Given the description of an element on the screen output the (x, y) to click on. 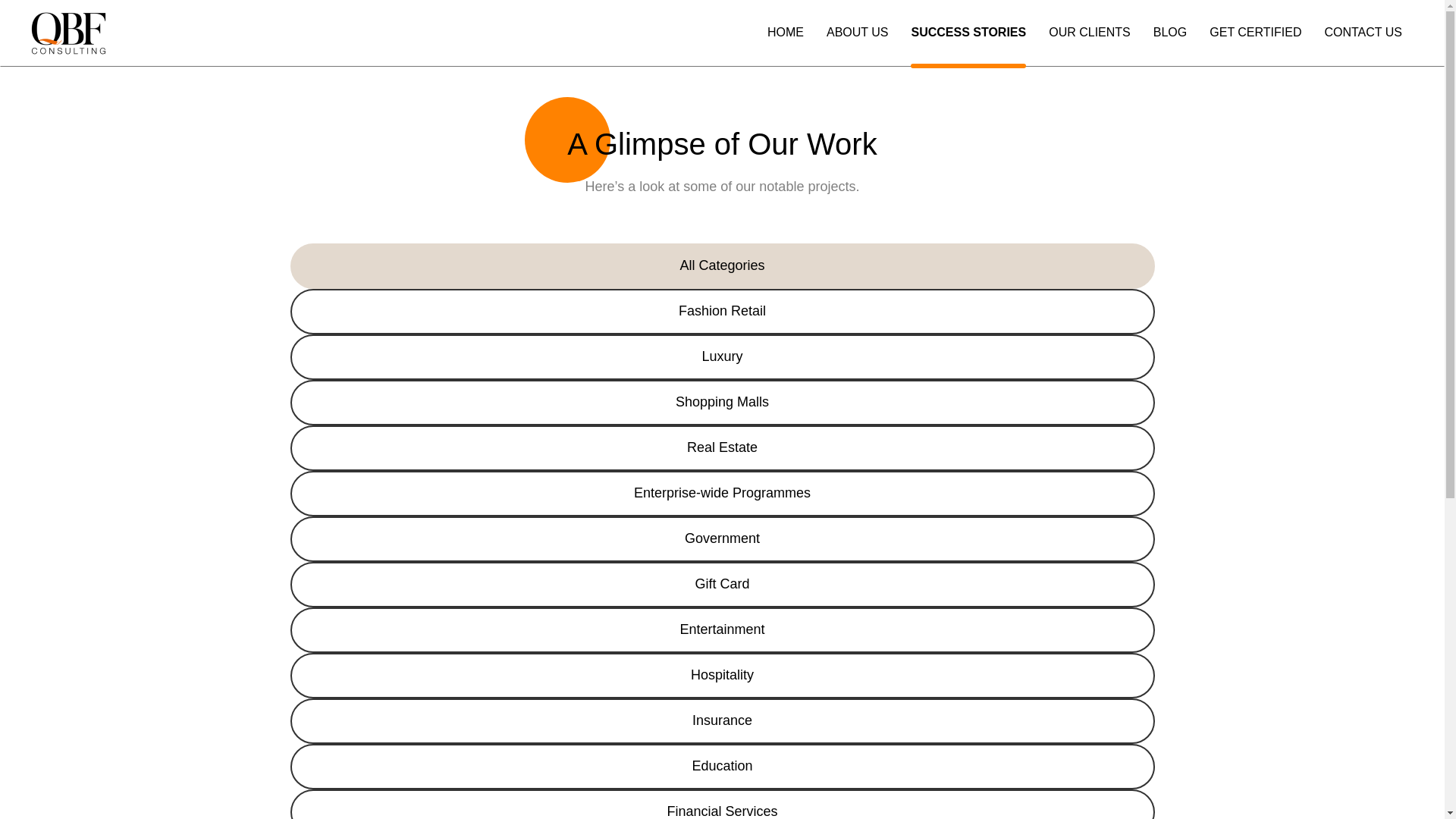
Real Estate (721, 447)
HOME (785, 44)
OUR CLIENTS (1089, 44)
Education (721, 766)
Fashion Retail (721, 311)
Luxury (721, 357)
ABOUT US (857, 44)
Insurance (721, 720)
Gift Card (721, 584)
All Categories (721, 266)
Enterprise-wide Programmes (721, 493)
Quick Brown Fox Consulting (116, 61)
SUCCESS STORIES (968, 44)
Financial Services (721, 804)
GET CERTIFIED (1255, 44)
